Given the description of an element on the screen output the (x, y) to click on. 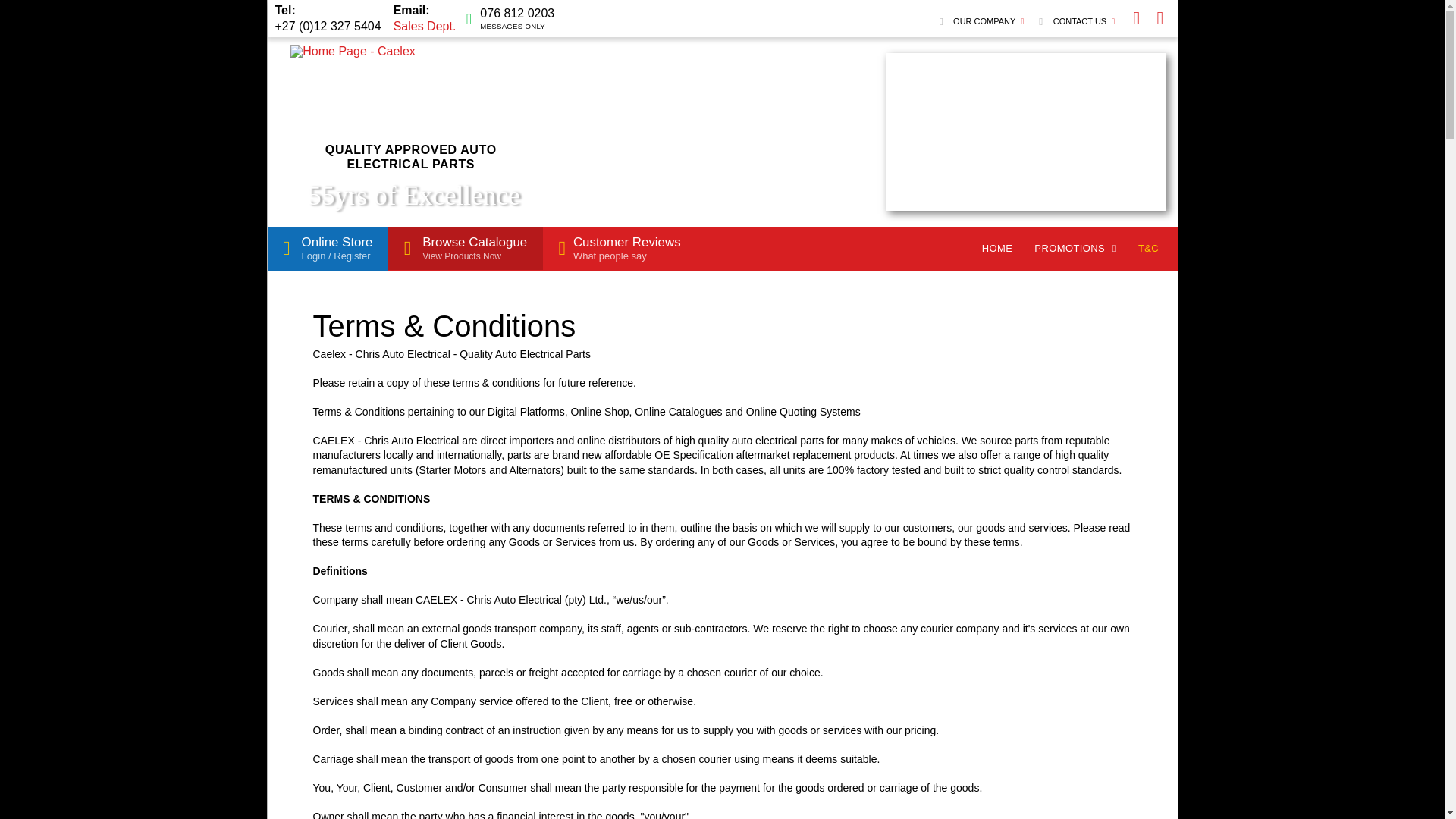
YouTube video player (1025, 131)
55yrs of Excellence (465, 248)
CONTACT US (619, 248)
OUR COMPANY (414, 195)
